Given the description of an element on the screen output the (x, y) to click on. 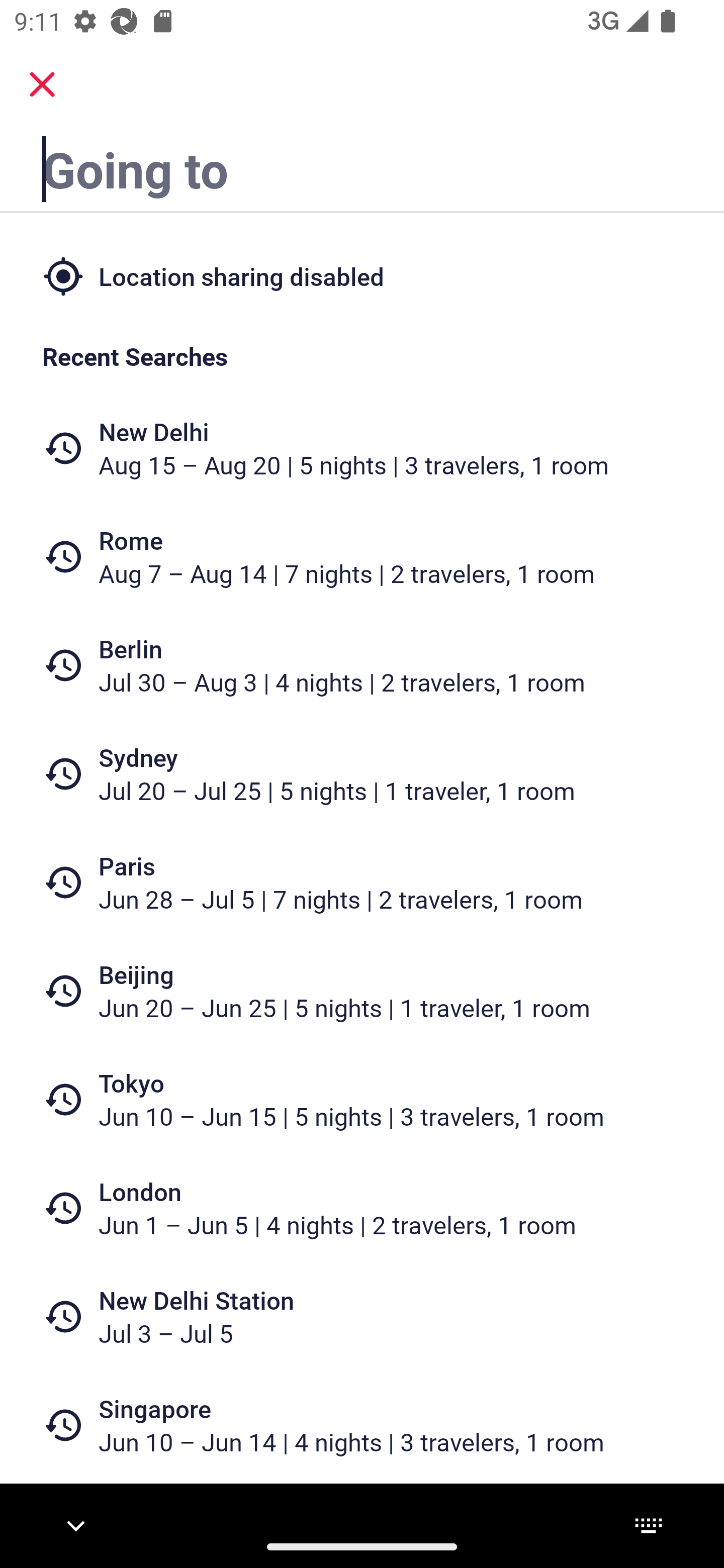
close. (42, 84)
Location sharing disabled (362, 275)
New Delhi Station Jul 3 – Jul 5 (362, 1316)
